Given the description of an element on the screen output the (x, y) to click on. 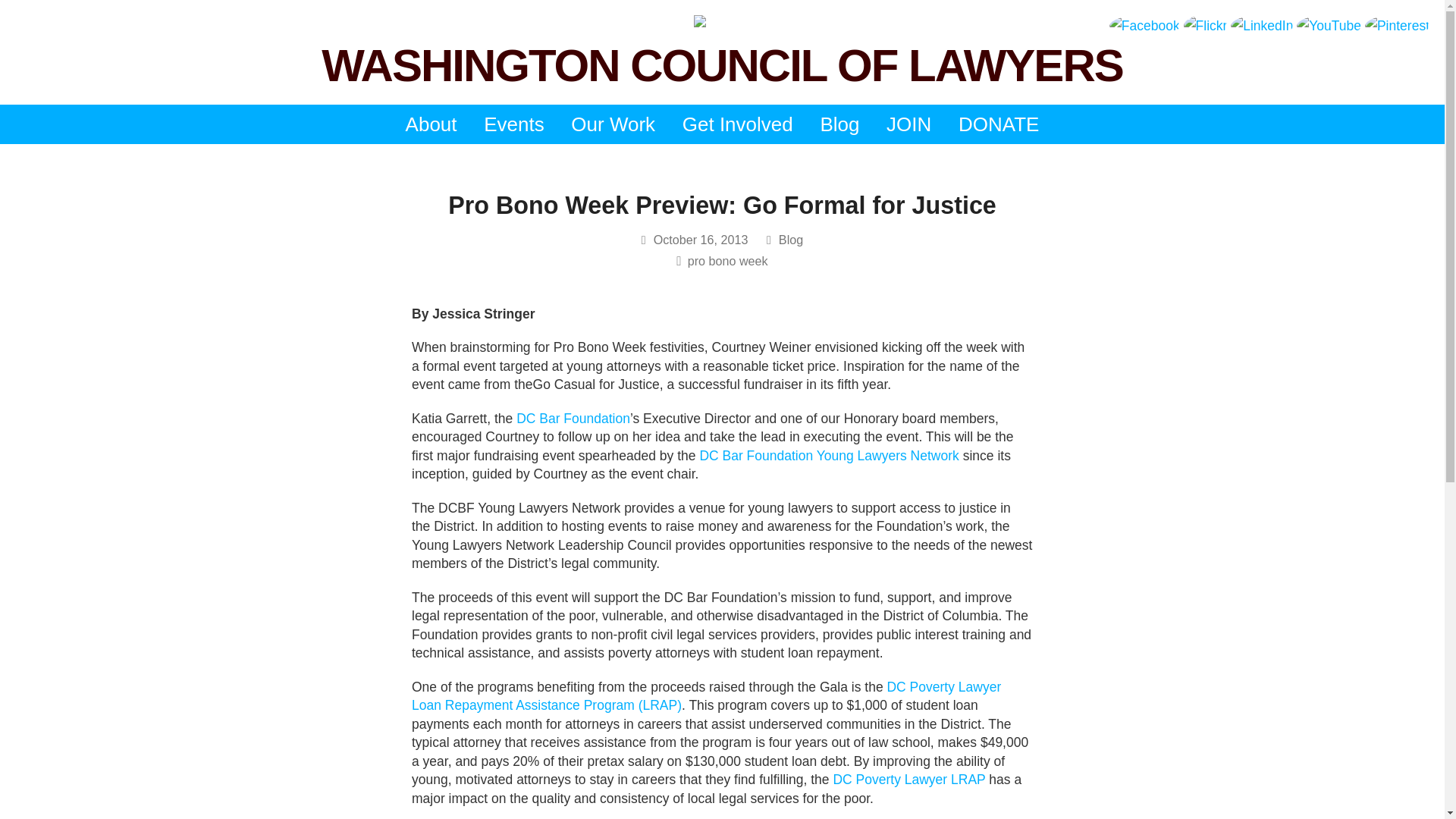
Our Work (612, 124)
Blog (839, 124)
Events (513, 124)
WASHINGTON COUNCIL OF LAWYERS (721, 65)
JOIN (909, 124)
About (430, 124)
Get Involved (737, 124)
